Given the description of an element on the screen output the (x, y) to click on. 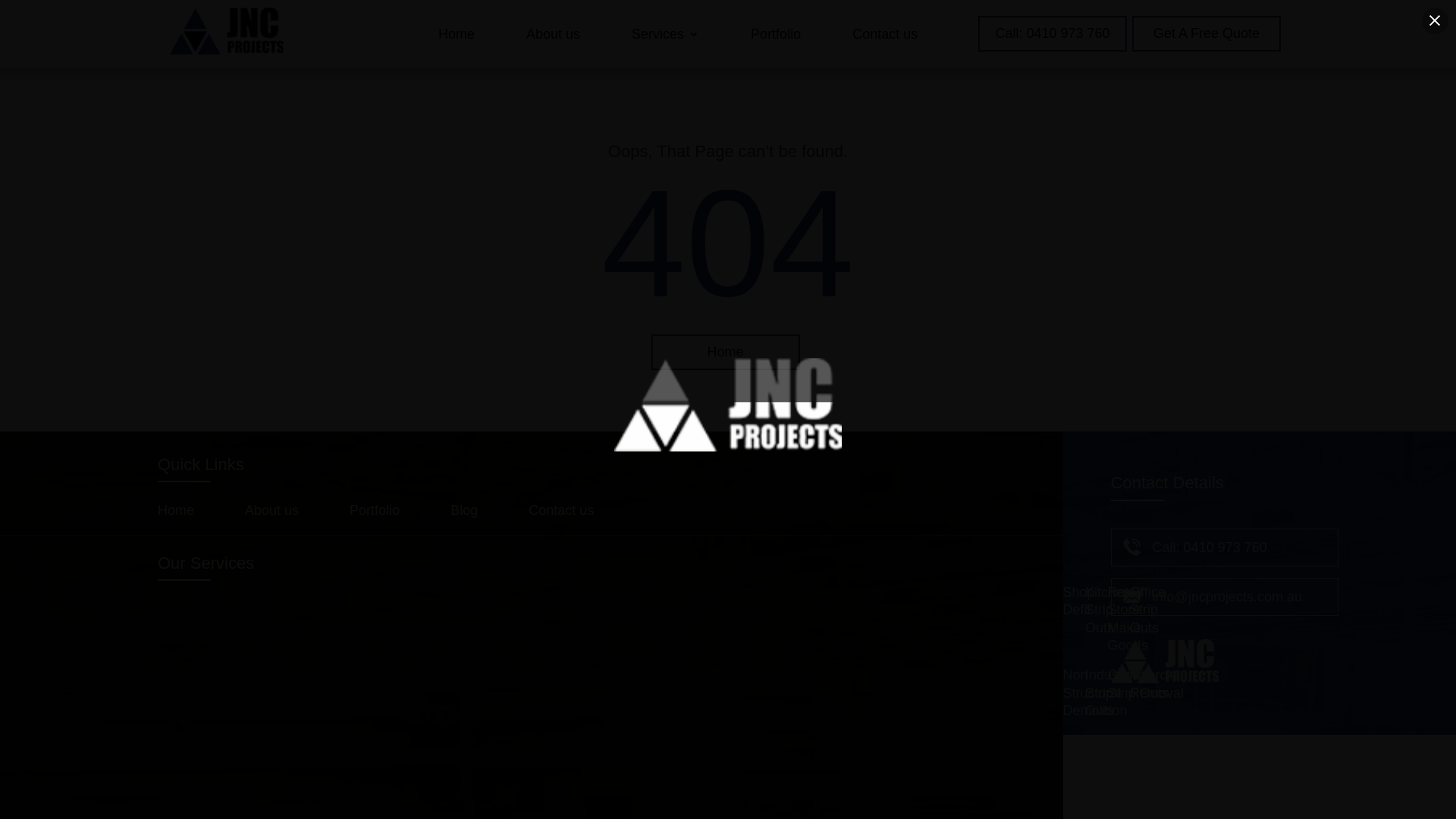
info@jncprojects.com.au Element type: text (1227, 596)
Services Element type: text (665, 33)
Contact us Element type: text (884, 33)
Home Element type: text (456, 33)
About us Element type: text (553, 33)
Portfolio Element type: text (391, 510)
Contact us Element type: text (577, 510)
Portfolio Element type: text (775, 33)
Call: 0410 973 760 Element type: text (1209, 547)
Retail Store Make Goods Element type: text (1127, 622)
Shop Defit Element type: text (1079, 622)
Get A Free Quote Element type: text (1206, 33)
Kitchen Strip Outs Element type: text (1107, 622)
Tile Removal Element type: text (1156, 695)
Commercial Strip Outs Element type: text (1143, 695)
About us Element type: text (288, 510)
Industrial Strip Outs Element type: text (1112, 695)
Home Element type: text (192, 510)
Call: 0410 973 760 Element type: text (1052, 33)
Non Structural Demolition Element type: text (1095, 695)
Home Element type: text (724, 352)
Blog Element type: text (480, 510)
Office Strip Outs Element type: text (1147, 622)
